Given the description of an element on the screen output the (x, y) to click on. 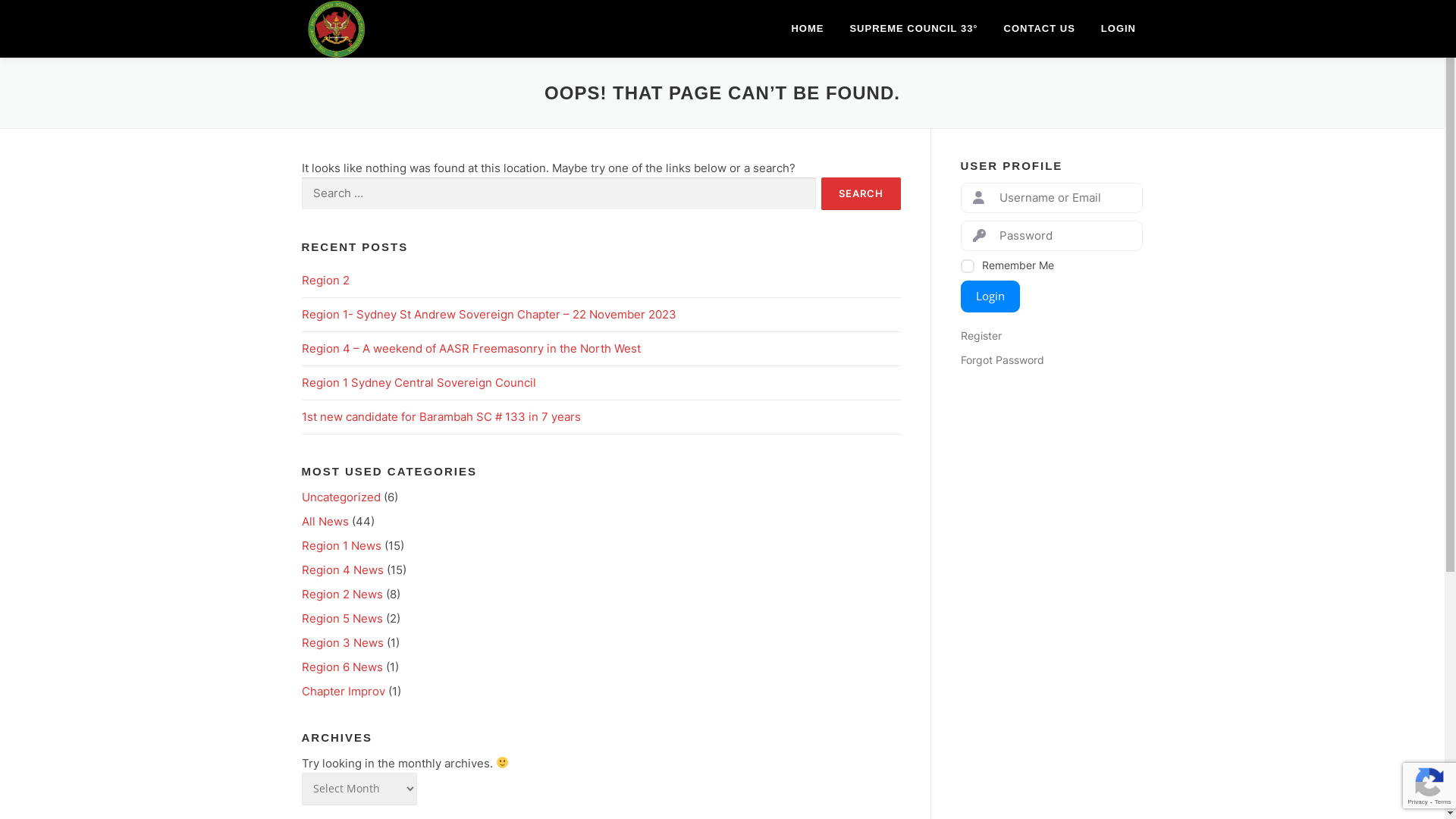
Register Element type: text (1051, 335)
LOGIN Element type: text (1118, 28)
1st new candidate for Barambah SC # 133 in 7 years Element type: text (440, 416)
CONTACT US Element type: text (1039, 28)
Forgot Password Element type: text (1051, 359)
HOME Element type: text (807, 28)
Region 2 Element type: text (325, 280)
Region 5 News Element type: text (341, 618)
Region 2 News Element type: text (341, 593)
All News Element type: text (324, 521)
Uncategorized Element type: text (340, 496)
Region 4 News Element type: text (342, 569)
Region 3 News Element type: text (342, 642)
Login Element type: text (989, 295)
Chapter Improv Element type: text (343, 691)
Region 1 News Element type: text (341, 545)
Search Element type: text (860, 193)
Region 1 Sydney Central Sovereign Council Element type: text (418, 382)
Region 6 News Element type: text (341, 666)
